Given the description of an element on the screen output the (x, y) to click on. 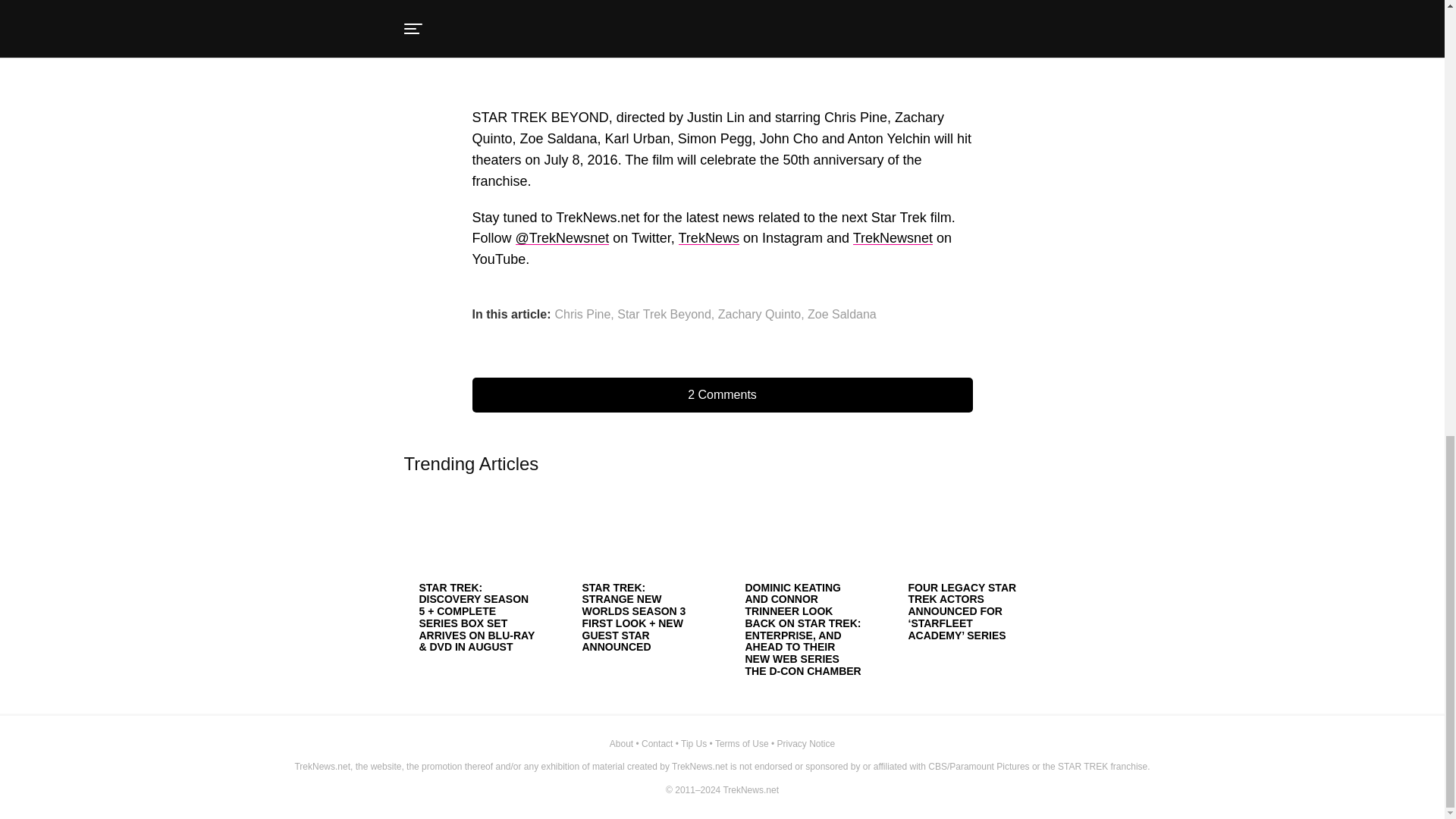
TrekNews (708, 237)
TrekNewsnet (893, 237)
Zoe Saldana (842, 314)
TrekNewsnet (893, 237)
The Hollywood Reporter (624, 2)
Terms of Use (741, 743)
TrekNews (708, 237)
Privacy Notice (805, 743)
Tip Us (693, 743)
Star Trek Beyond (664, 314)
Chris Pine (582, 314)
Contact (657, 743)
About (621, 743)
Zachary Quinto (758, 314)
